Given the description of an element on the screen output the (x, y) to click on. 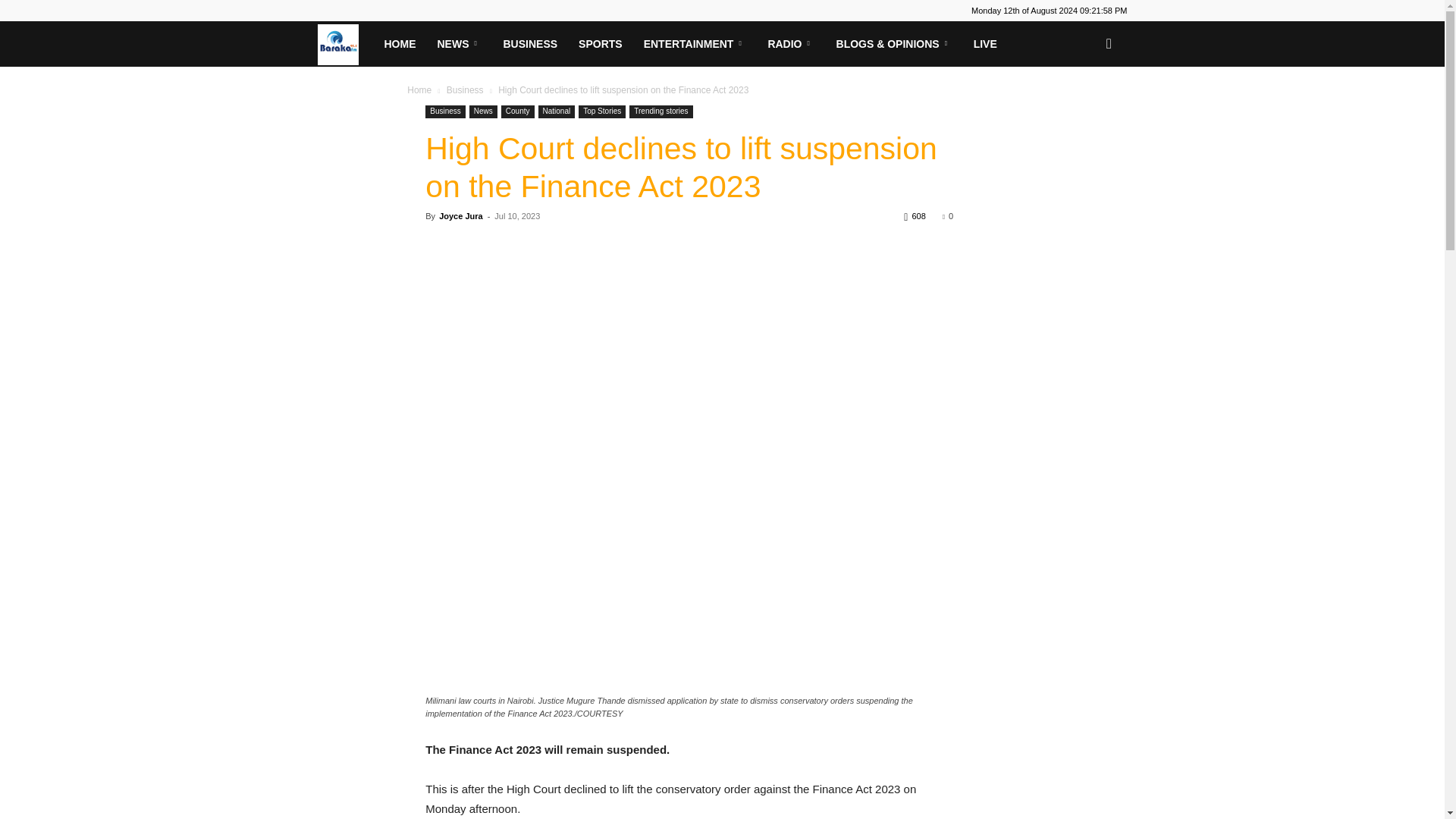
HOME (399, 43)
Baraka FM 95.5 (344, 43)
NEWS (459, 43)
